Given the description of an element on the screen output the (x, y) to click on. 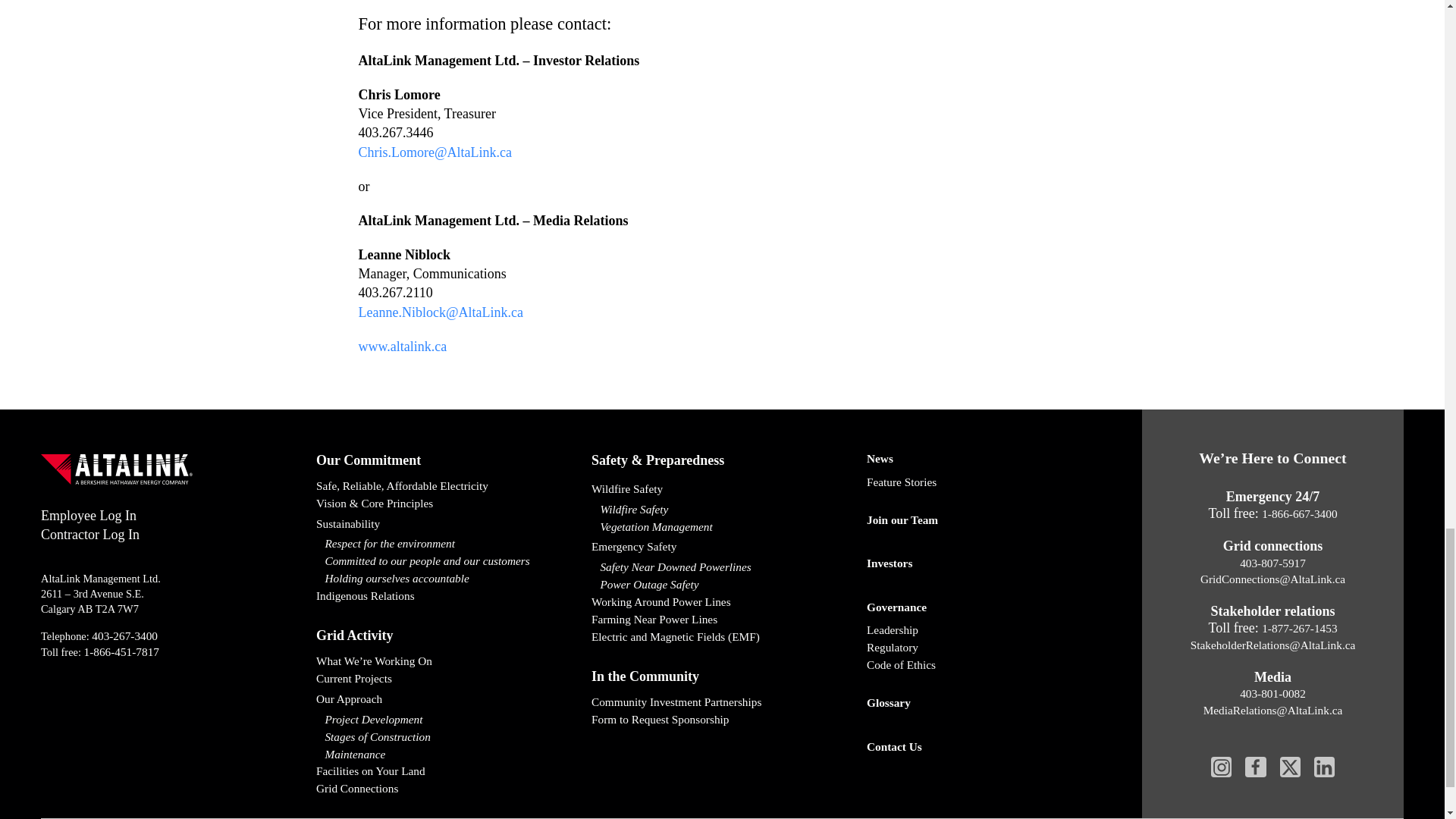
Contractor Log In (89, 534)
Facilities on Your Land (446, 771)
www.altalink.ca (402, 346)
Respect for the environment (446, 543)
1-866-451-7817 (121, 651)
Employee Log In (88, 515)
Current Projects (446, 678)
Emergency Safety (722, 546)
Our Approach (446, 699)
Indigenous Relations (446, 596)
Sustainability (446, 524)
Wildfire Safety (722, 509)
Safe, Reliable, Affordable Electricity (446, 486)
Stages of Construction (446, 737)
Project Development (446, 719)
